Given the description of an element on the screen output the (x, y) to click on. 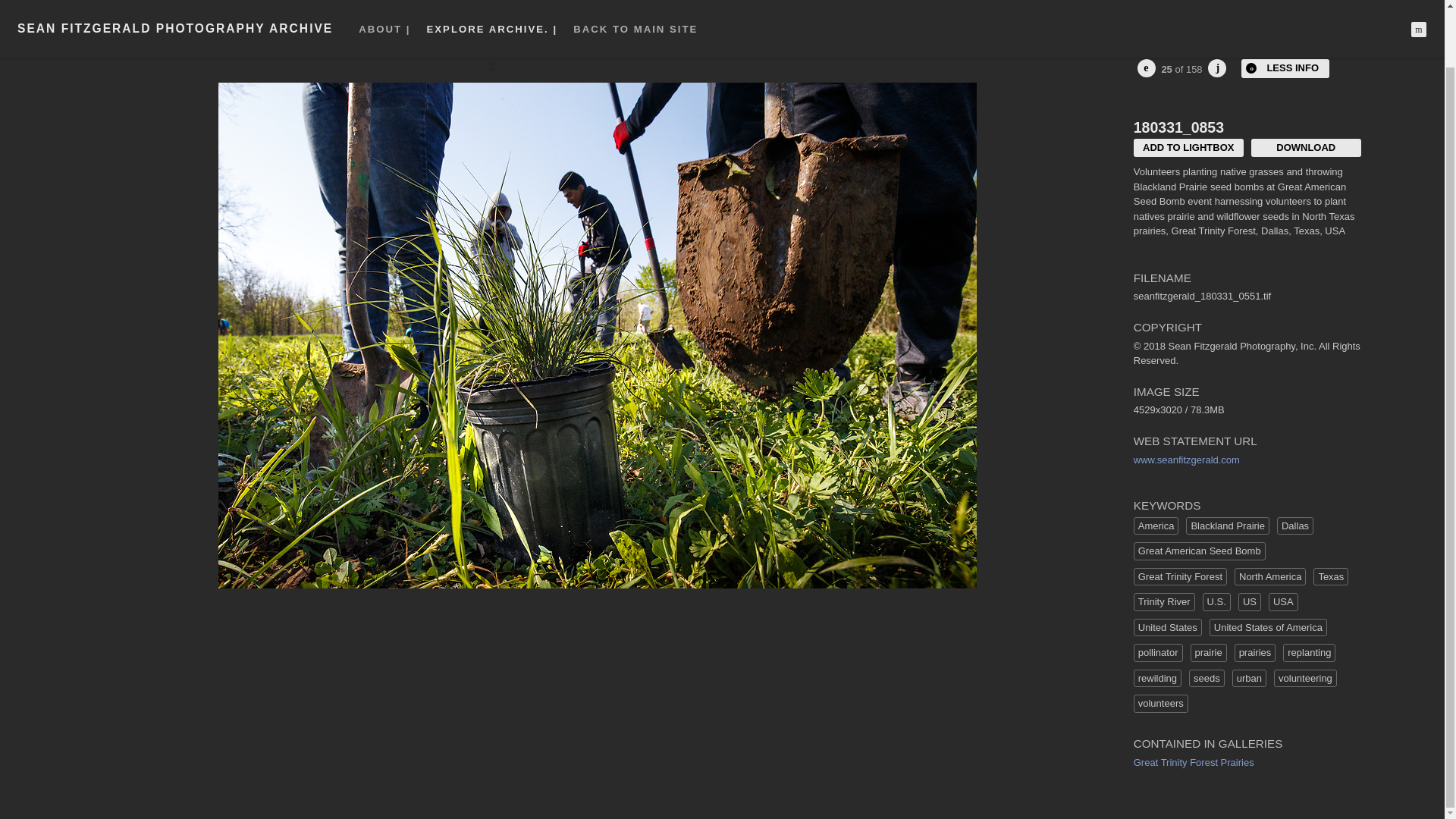
LIGHTBOX (1276, 17)
Info (1285, 67)
Great Trinity Forest (1180, 577)
urban (1248, 678)
seeds (1206, 678)
USA (1283, 601)
volunteers (1161, 703)
Blackland Prairie (1227, 525)
Trinity River (1164, 601)
CART (1339, 17)
rewilding (1157, 678)
pollinator (1158, 652)
Texas (1330, 577)
SEARCH RESULTS (138, 17)
volunteering (1305, 678)
